Given the description of an element on the screen output the (x, y) to click on. 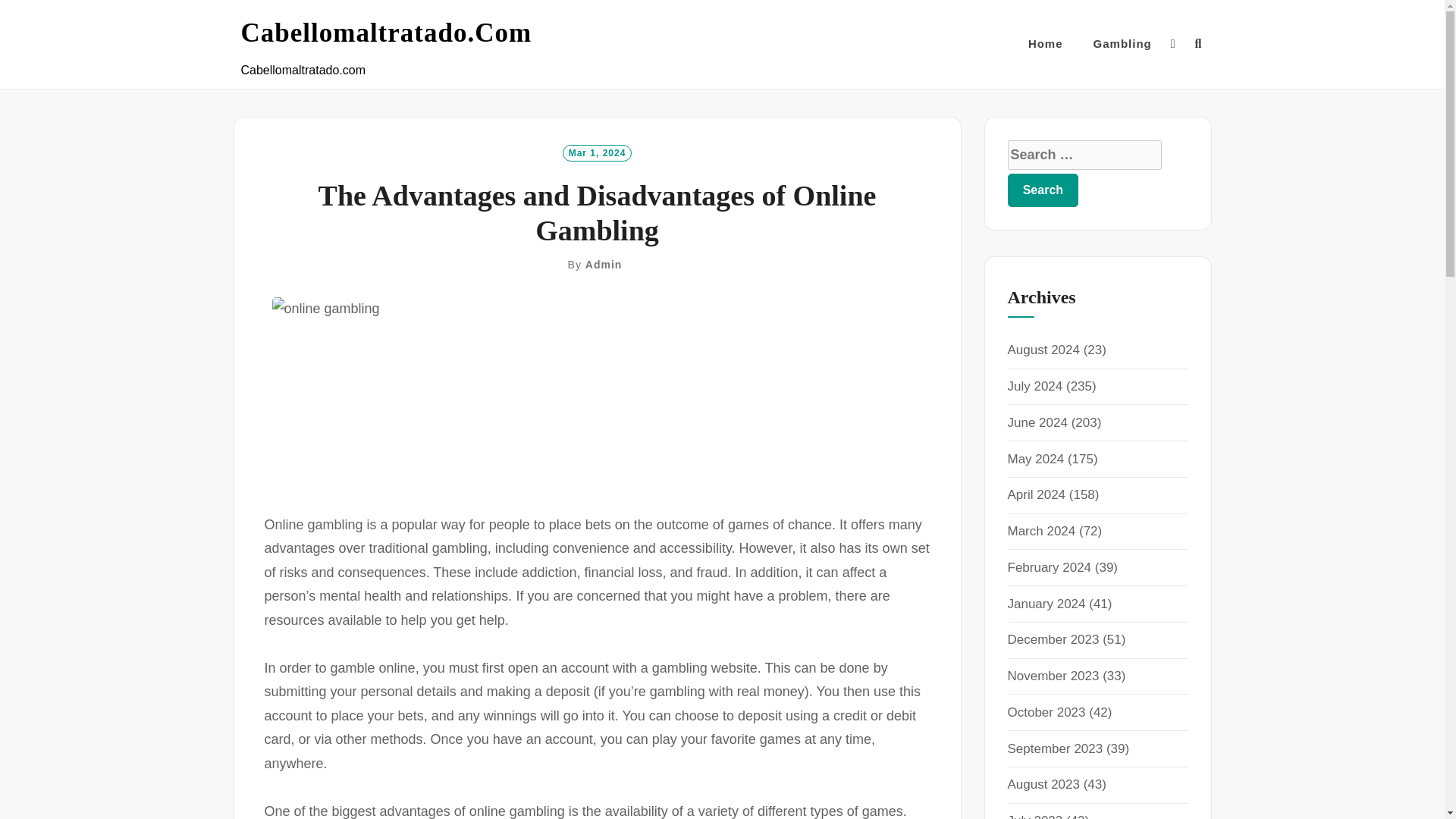
Mar 1, 2024 (596, 152)
November 2023 (1053, 676)
July 2024 (1034, 386)
Cabellomaltratado.Com (386, 33)
October 2023 (1045, 712)
Search (1042, 190)
December 2023 (1053, 639)
August 2024 (1042, 350)
Home (1044, 44)
March 2024 (1041, 531)
